Given the description of an element on the screen output the (x, y) to click on. 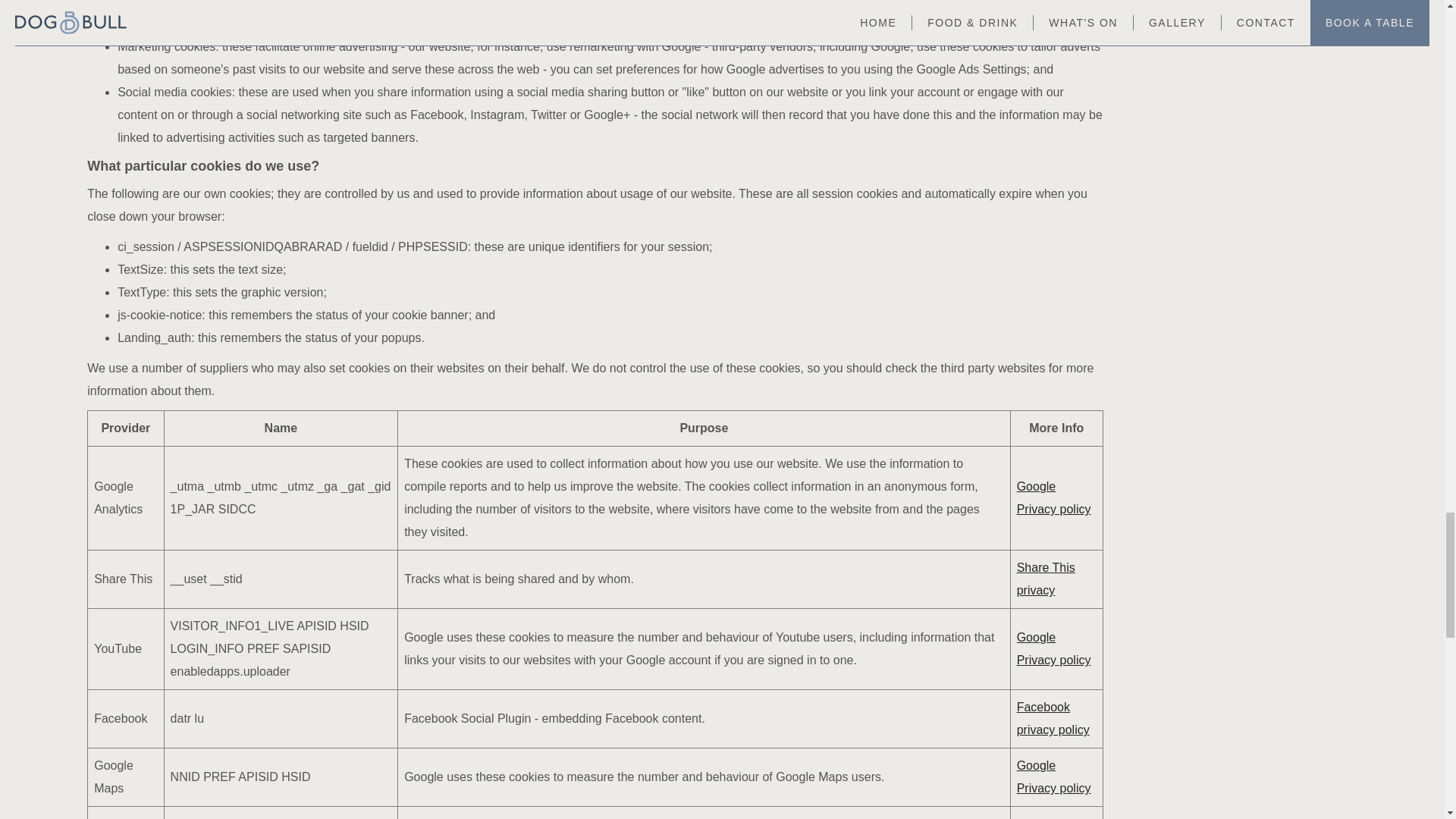
Facebook privacy policy (1052, 718)
Google Privacy policy (1053, 776)
Google Privacy policy (1053, 648)
Share This privacy (1045, 579)
Google Privacy policy (1053, 497)
